Given the description of an element on the screen output the (x, y) to click on. 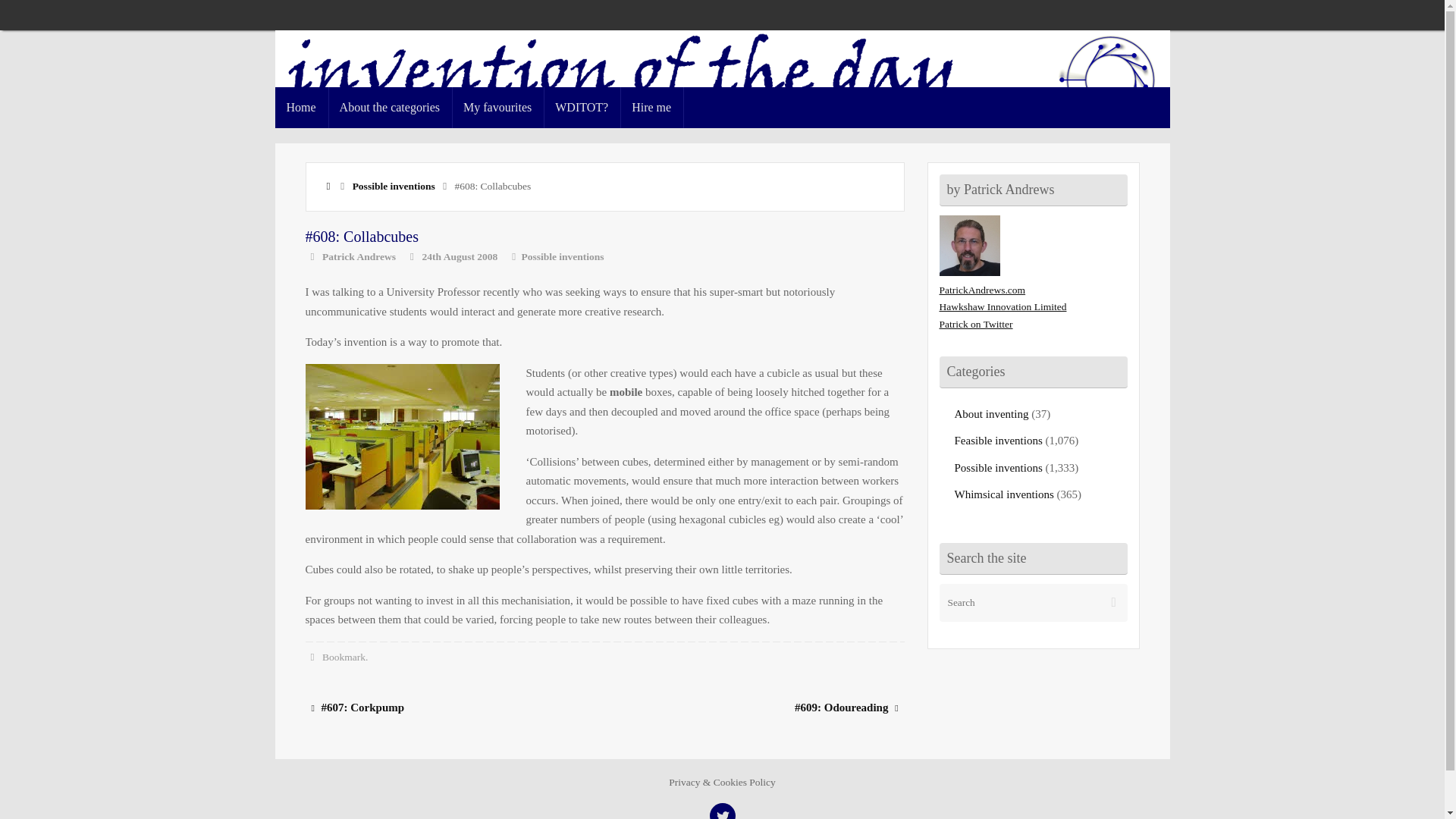
Invention Of The Day (722, 83)
Feasible inventions (997, 440)
Author (311, 256)
WDITOT? (581, 106)
PatrickAndrews.com (982, 289)
My favourites (497, 106)
24th August 2008 (459, 256)
Home (301, 106)
Date (411, 256)
Twitter (722, 811)
About inventing (990, 413)
About the categories (390, 106)
Whimsical inventions (1002, 494)
Possible inventions (997, 467)
Categories (513, 256)
